Given the description of an element on the screen output the (x, y) to click on. 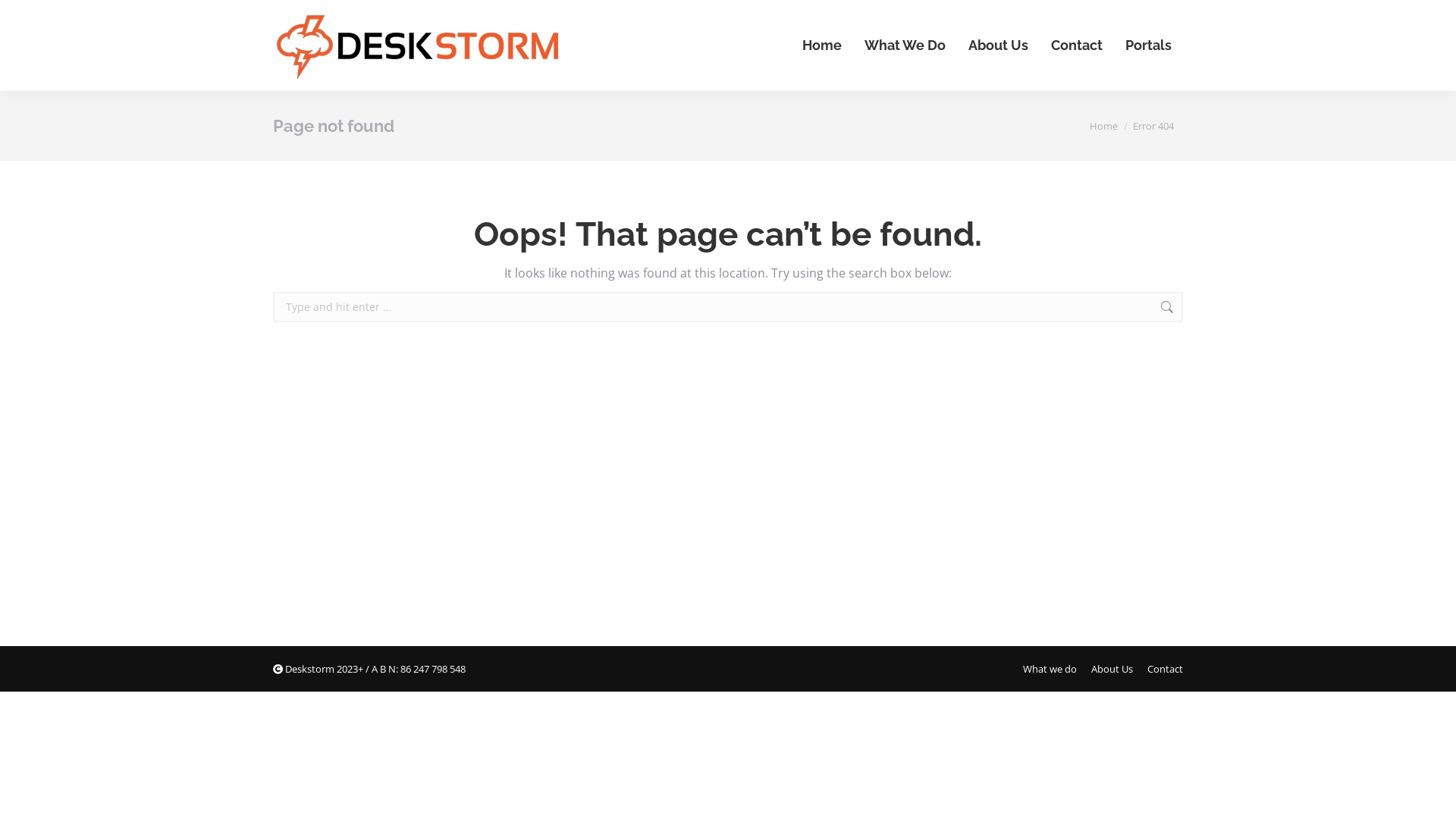
Portals Element type: text (1148, 45)
What We Do Element type: text (905, 45)
About Us Element type: text (1111, 668)
Home Element type: text (1103, 125)
Contact Element type: text (1165, 668)
Go! Element type: text (1206, 307)
About Us Element type: text (998, 45)
Home Element type: text (821, 45)
What we do Element type: text (1049, 668)
Contact Element type: text (1076, 45)
